Given the description of an element on the screen output the (x, y) to click on. 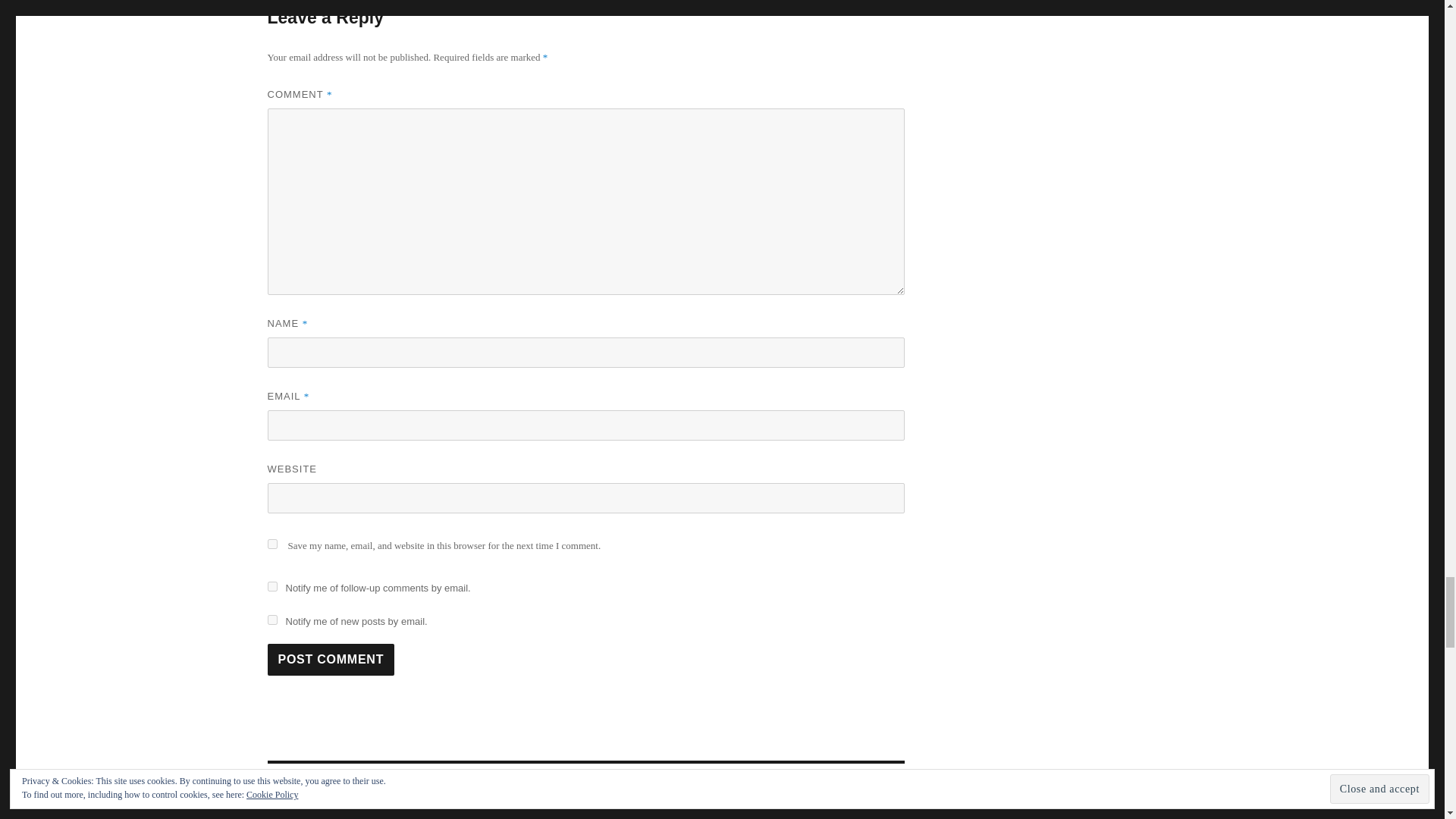
yes (271, 543)
Post Comment (330, 659)
subscribe (271, 586)
subscribe (271, 619)
